Given the description of an element on the screen output the (x, y) to click on. 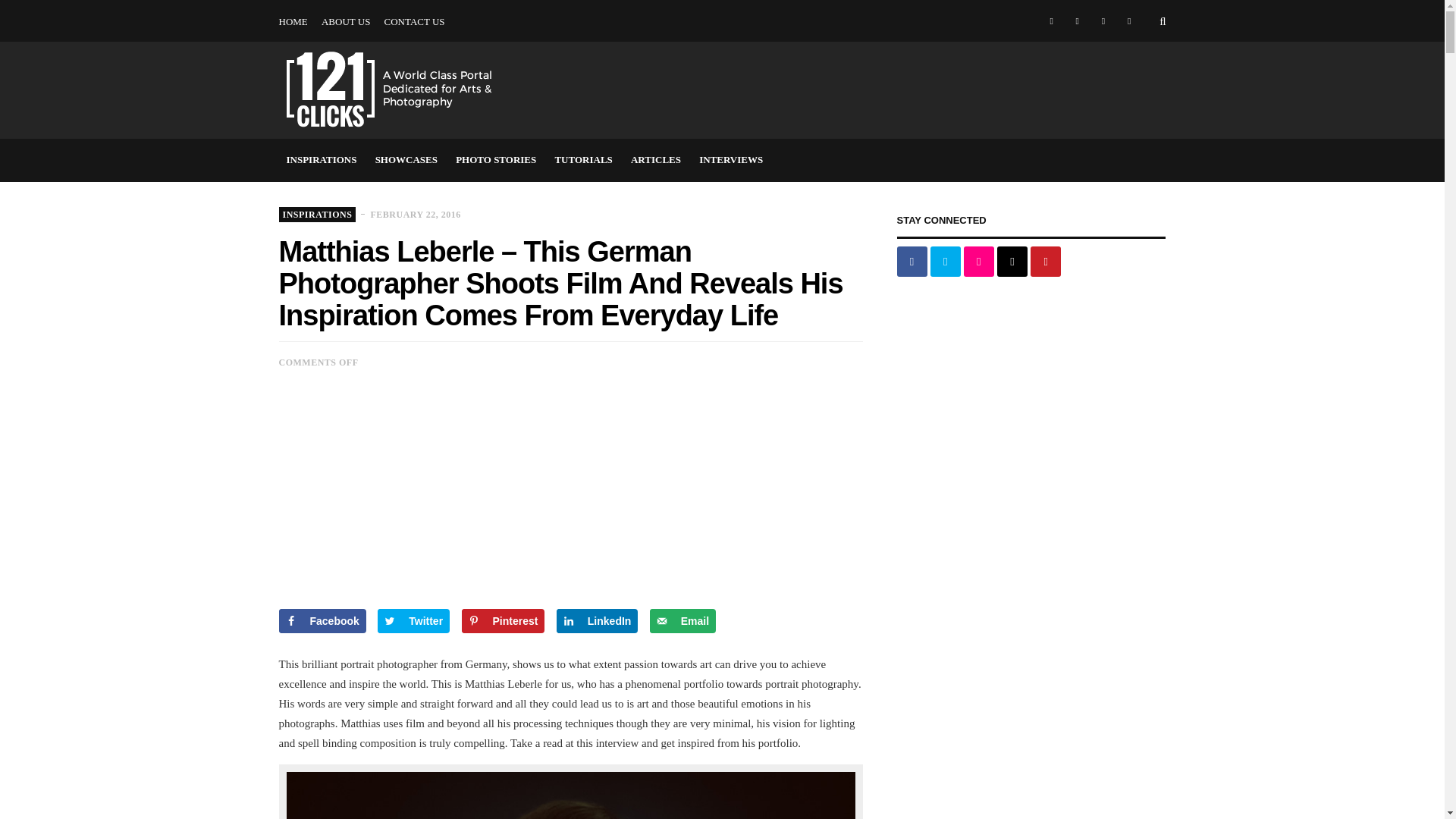
ABOUT US (345, 22)
INSPIRATIONS (322, 159)
ARTICLES (655, 159)
ARTICLES (1020, 0)
Share on LinkedIn (597, 621)
SHOWCASES (406, 159)
TUTORIALS (583, 159)
PHOTO STORIES (495, 159)
HOME (293, 22)
Share on Facebook (322, 621)
PHOTO STORIES (869, 0)
Send over email (682, 621)
INTERVIEWS (730, 159)
SHOWCASES (784, 0)
CONTACT US (413, 22)
